Given the description of an element on the screen output the (x, y) to click on. 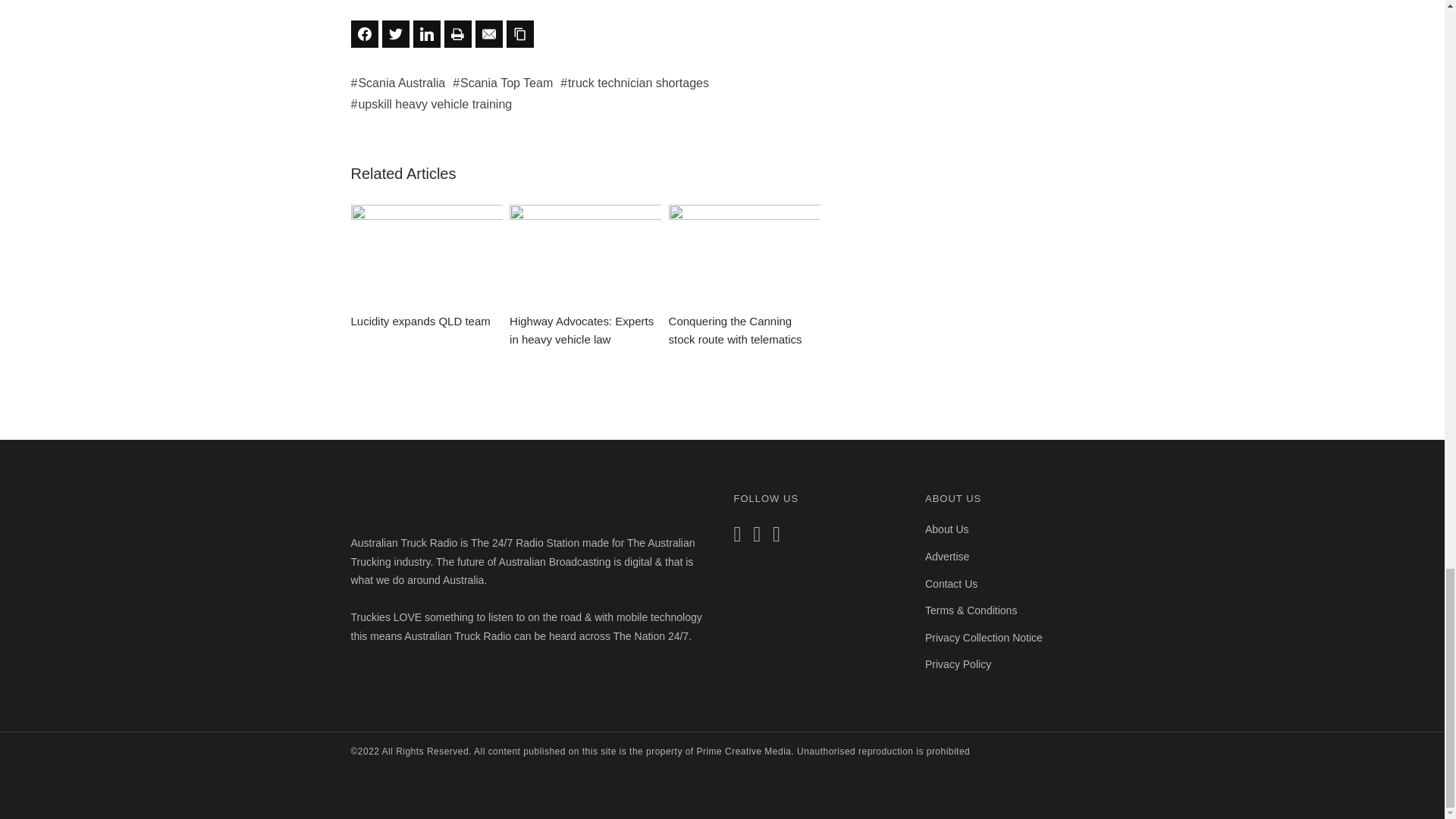
Scania Top Team (502, 82)
Share on Facebook (363, 33)
Scania Australia (397, 82)
Share on Copy Link (520, 33)
Share on Twitter (395, 33)
upskill heavy vehicle training (431, 103)
Lucidity expands QLD team (426, 267)
truck technician shortages (634, 82)
Share on LinkedIn (425, 33)
Highway Advocates: Experts in heavy vehicle law (585, 276)
